Given the description of an element on the screen output the (x, y) to click on. 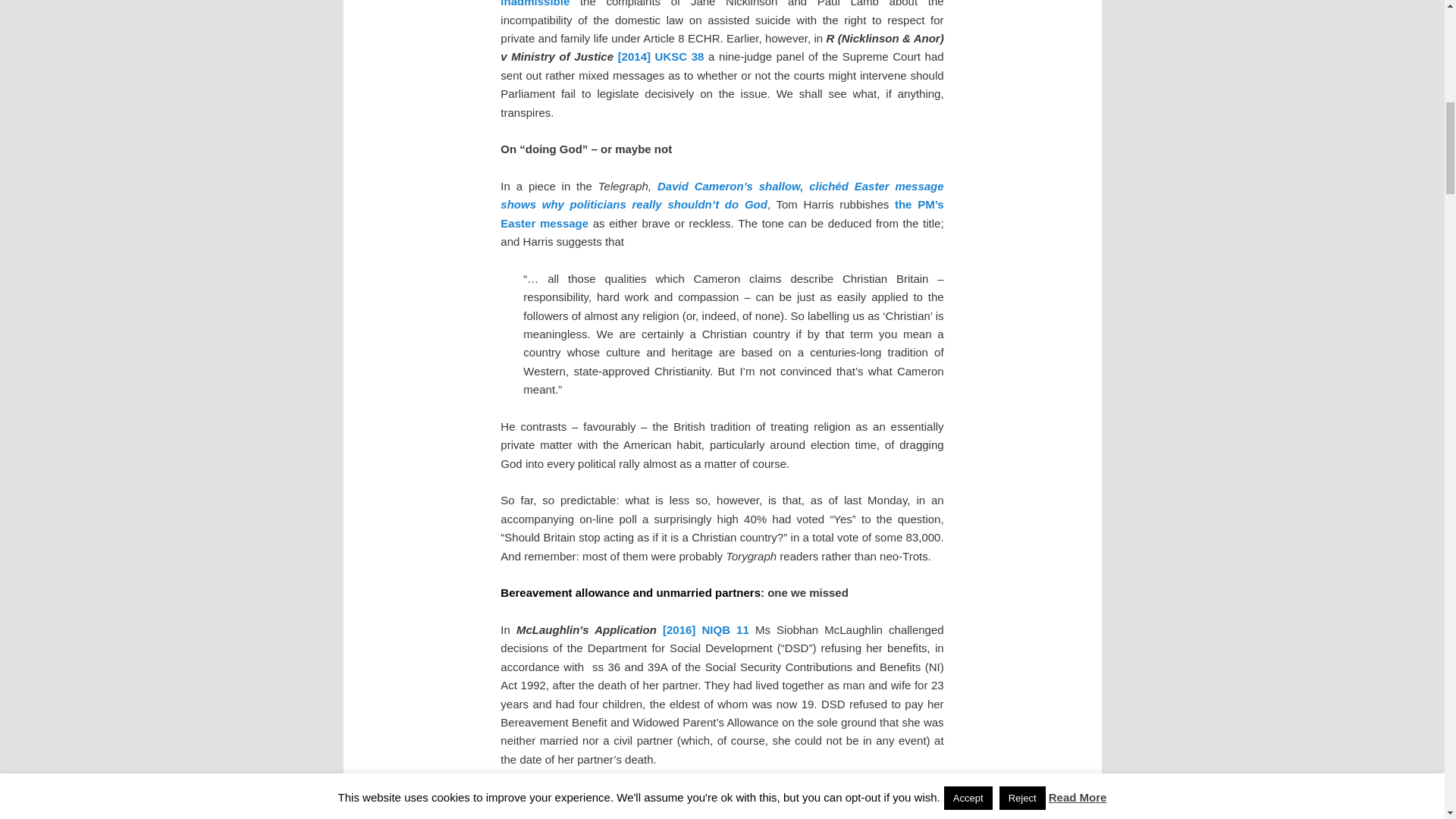
inadmissible (534, 3)
